Given the description of an element on the screen output the (x, y) to click on. 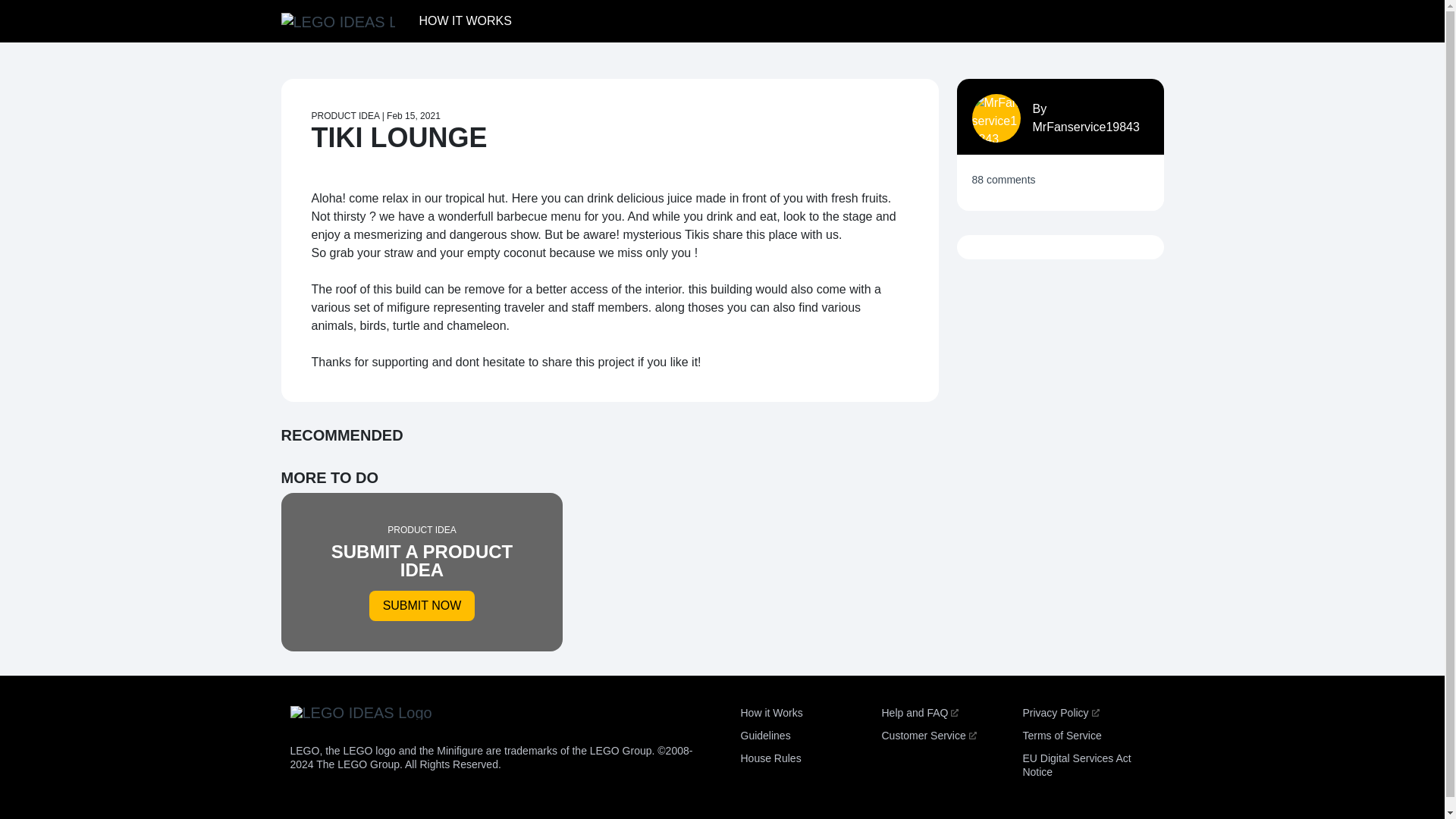
Terms of Service (1061, 735)
Guidelines (764, 735)
Privacy Policy (1060, 712)
HOW IT WORKS (464, 20)
MrFanservice19843 (1086, 126)
2021-02-15T08:10:21.561586Z (414, 115)
EU Digital Services Act Notice (1076, 765)
House Rules (769, 758)
Help and FAQ (919, 712)
Customer Service (927, 735)
